Given the description of an element on the screen output the (x, y) to click on. 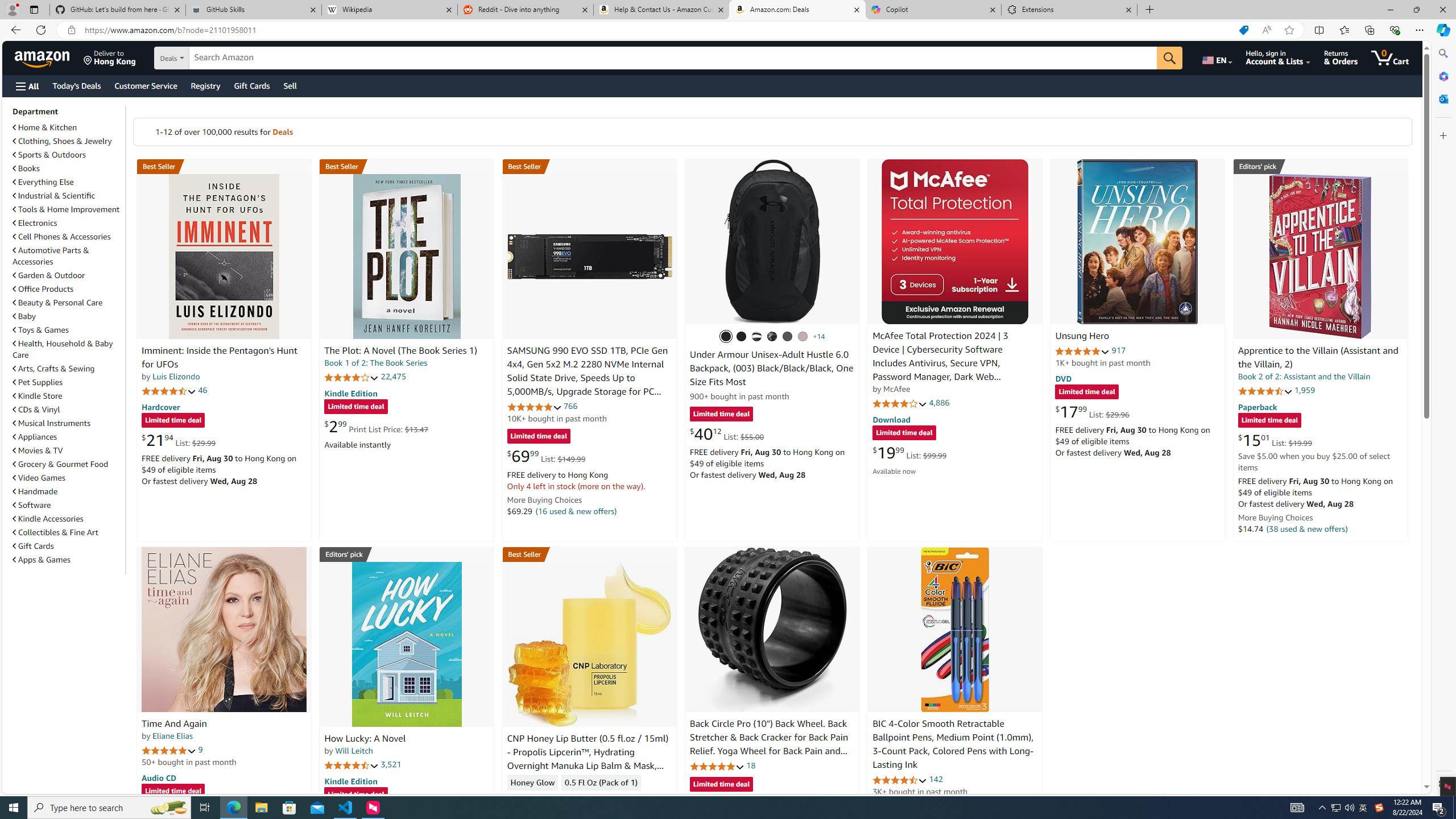
How Lucky: A Novel (405, 644)
Gift Cards (33, 545)
(002) Black / Black / White (756, 336)
Sports & Outdoors (67, 154)
Kindle Accessories (67, 518)
Kindle Accessories (47, 518)
Today's Deals (76, 85)
$15.01 List: $19.99 (1274, 439)
Limited time deal (721, 784)
Handmade (35, 491)
Deliver to Hong Kong (109, 57)
